Given the description of an element on the screen output the (x, y) to click on. 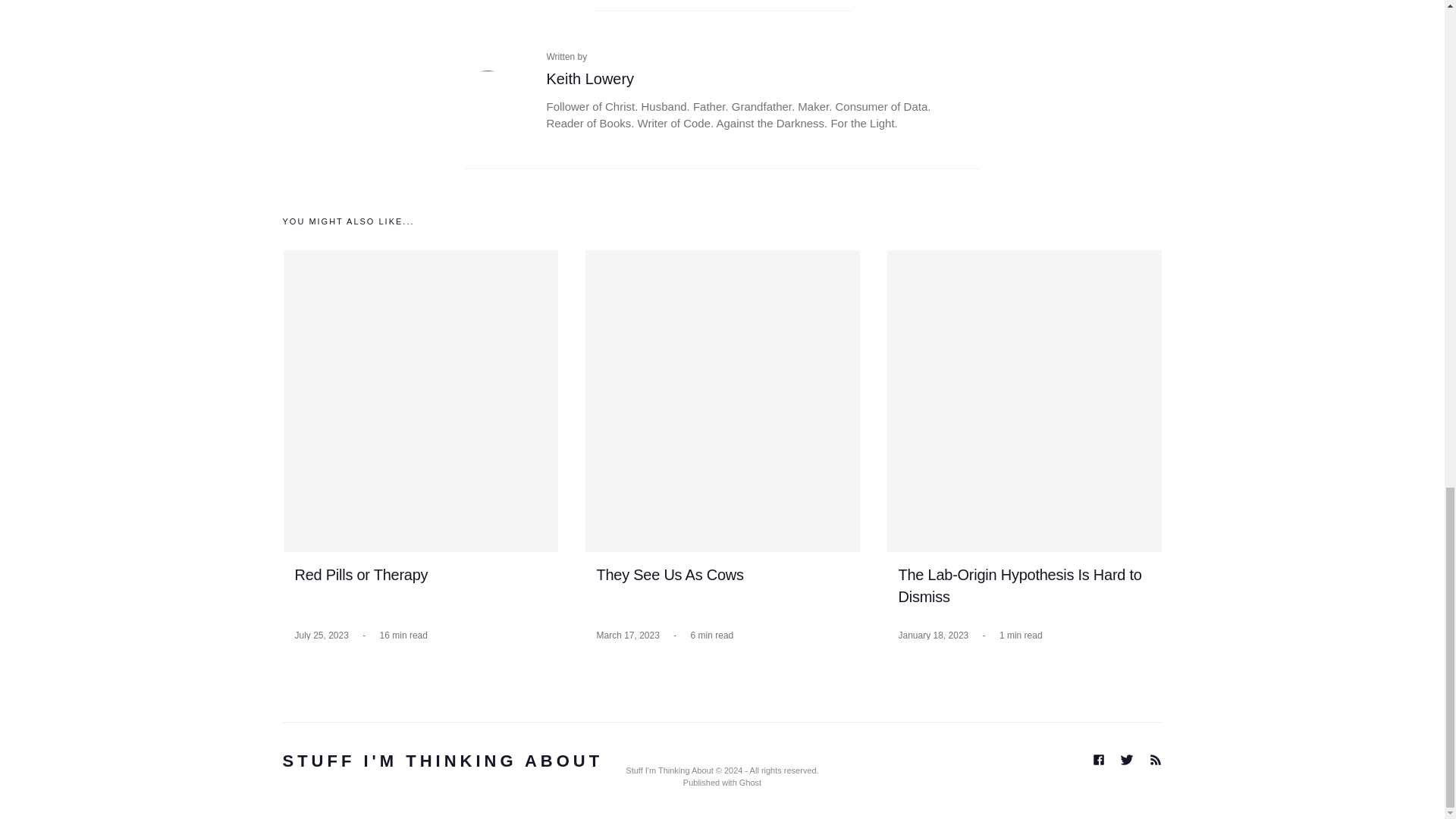
The Lab-Origin Hypothesis Is Hard to Dismiss (1019, 586)
Keith Lowery (589, 78)
They See Us As Cows (668, 574)
Keith Lowery (486, 88)
Keith Lowery (589, 78)
Red Pills or Therapy (361, 574)
